Given the description of an element on the screen output the (x, y) to click on. 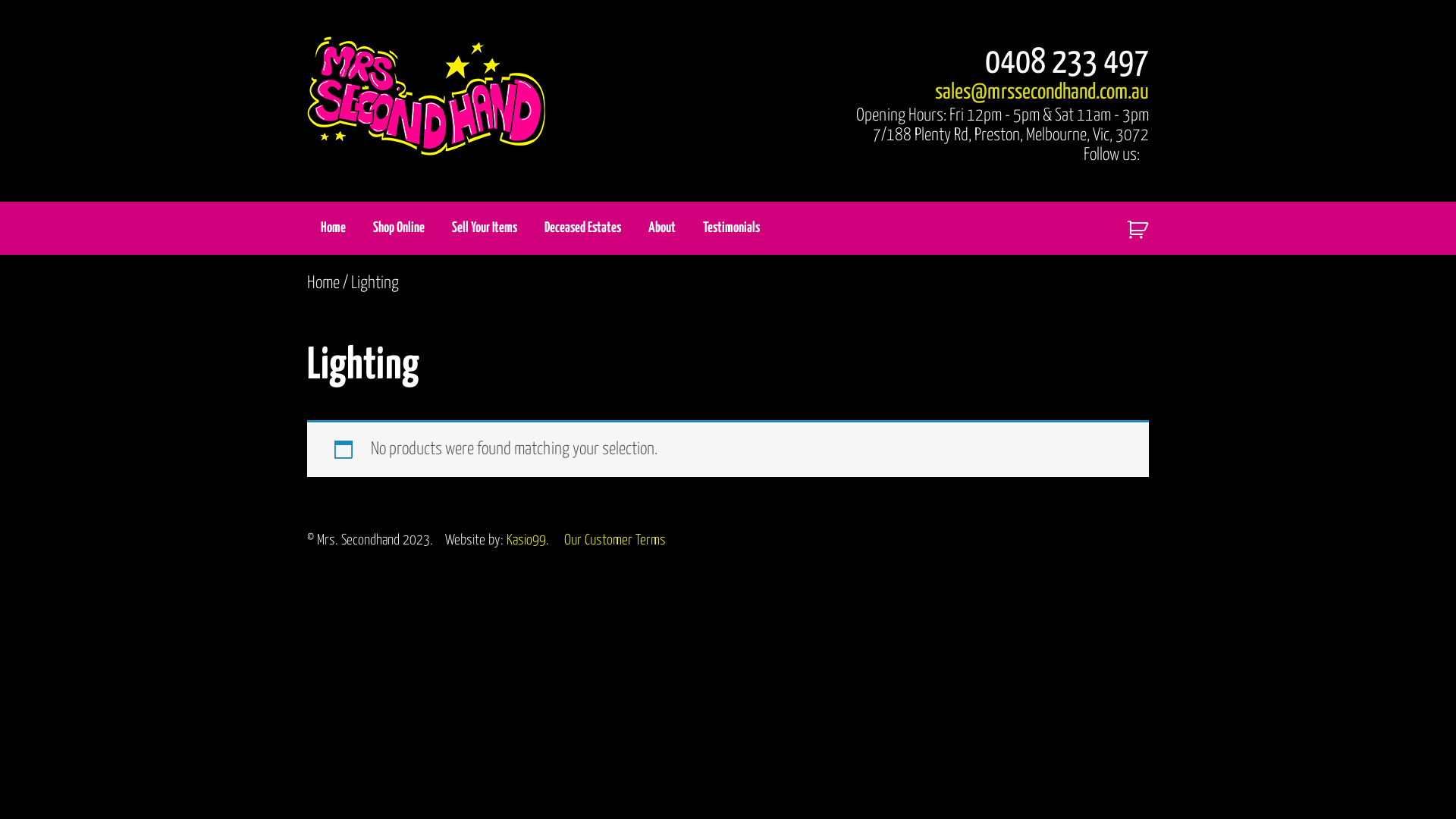
Shop Online Element type: text (398, 227)
Our Customer Terms Element type: text (614, 540)
sales@mrssecondhand.com.au Element type: text (1041, 92)
7/188 Plenty Rd, Preston, Melbourne, Vic, 3072 Element type: text (1010, 135)
Deceased Estates Element type: text (582, 227)
Home Element type: text (332, 227)
Home Element type: text (323, 282)
Testimonials Element type: text (730, 227)
Kasio99 Element type: text (526, 540)
0408 233 497 Element type: text (1066, 63)
About Element type: text (661, 227)
View your shopping cart Element type: hover (1131, 225)
Sell Your Items Element type: text (484, 227)
